Given the description of an element on the screen output the (x, y) to click on. 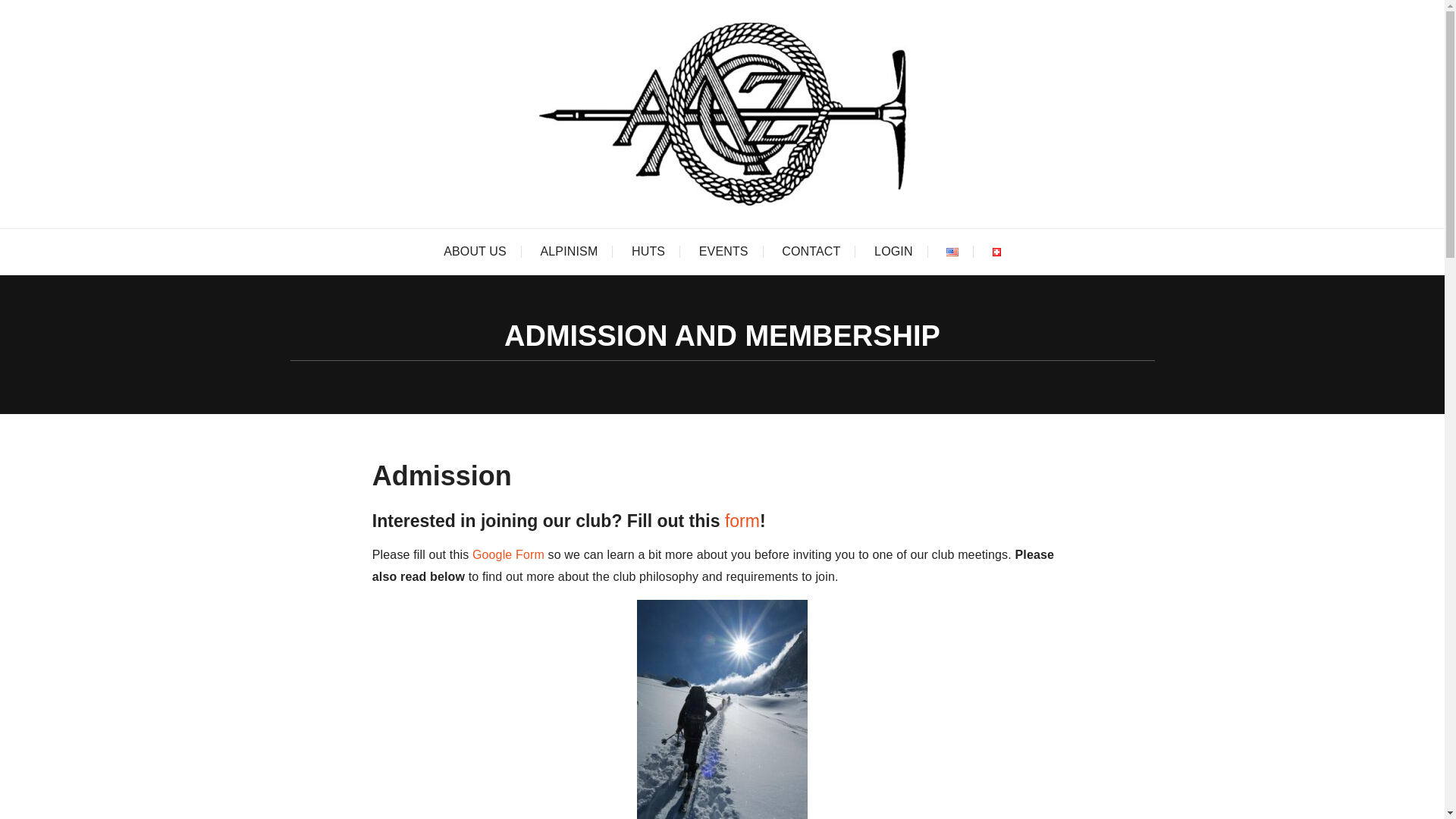
LOGIN (893, 251)
ALPINISM (568, 251)
Google Form (507, 554)
EVENTS (723, 251)
HUTS (647, 251)
ABOUT US (474, 251)
form (742, 520)
CONTACT (811, 251)
